Given the description of an element on the screen output the (x, y) to click on. 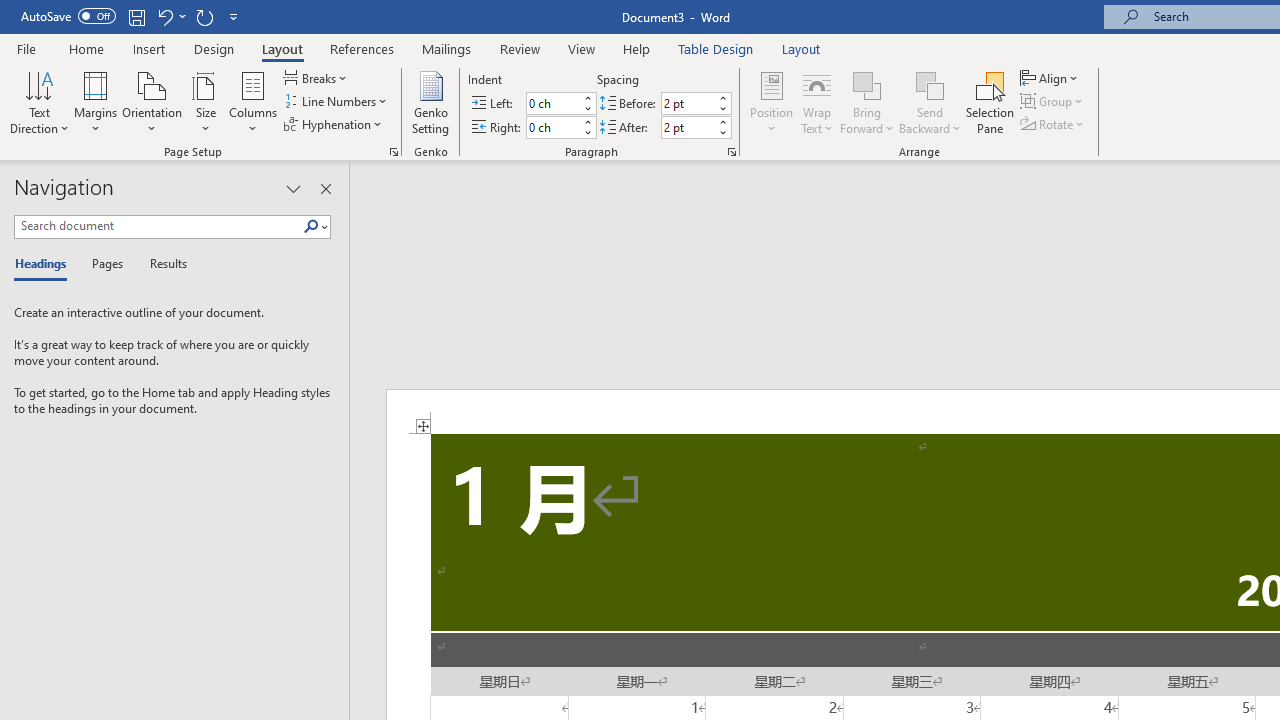
Undo Increase Indent (164, 15)
Hyphenation (334, 124)
Margins (95, 102)
Group (1053, 101)
Spacing After (687, 127)
Align (1051, 78)
Text Direction (39, 102)
Orientation (152, 102)
Size (205, 102)
